Given the description of an element on the screen output the (x, y) to click on. 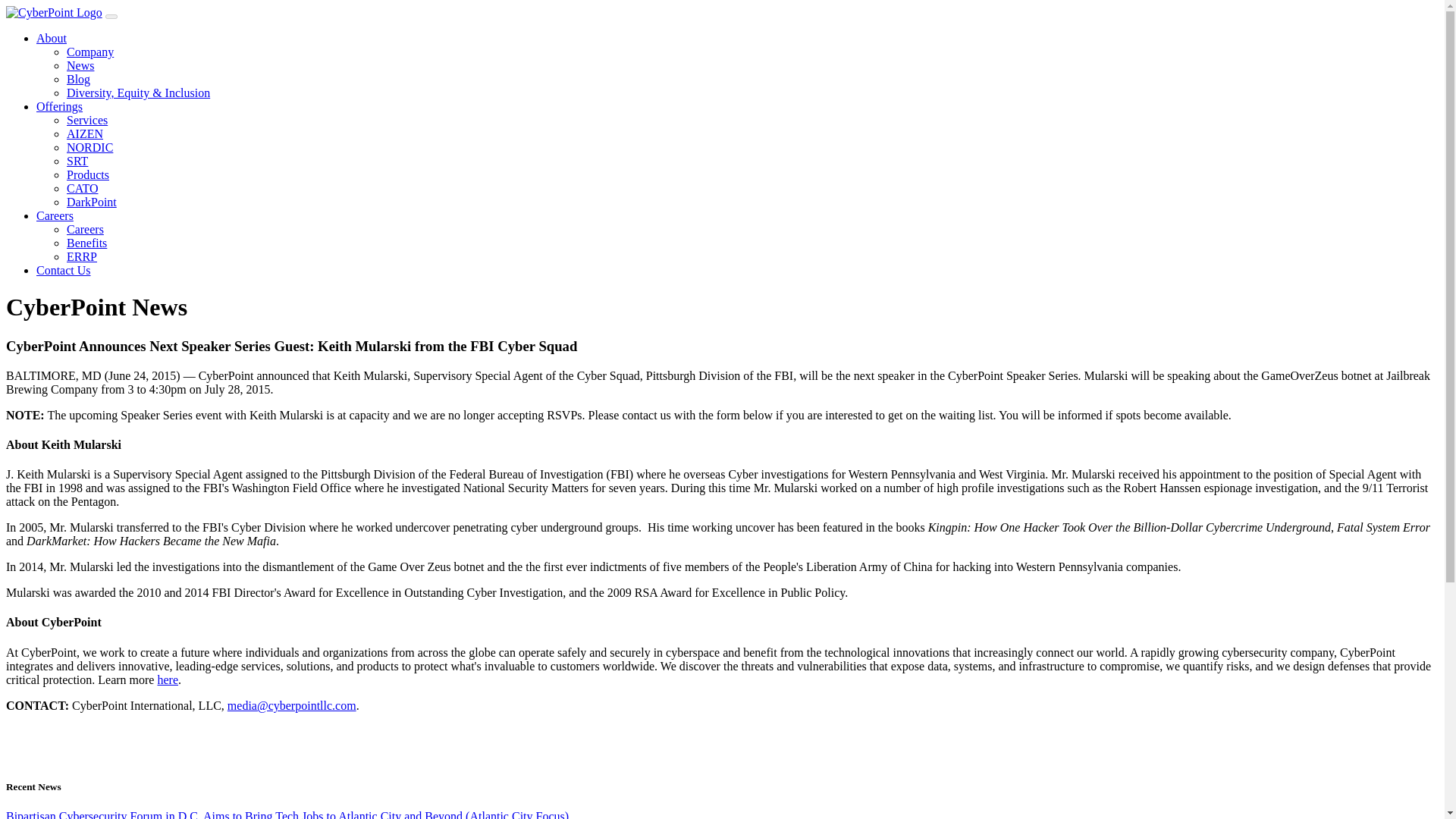
NORDIC (89, 146)
DarkPoint (91, 201)
Blog (78, 78)
Careers (55, 215)
SRT (76, 160)
Careers (84, 228)
here (167, 679)
Products (87, 174)
CATO (82, 187)
Offerings (59, 106)
News (80, 65)
Contact Us (63, 269)
ERRP (81, 256)
Company (89, 51)
Services (86, 119)
